Given the description of an element on the screen output the (x, y) to click on. 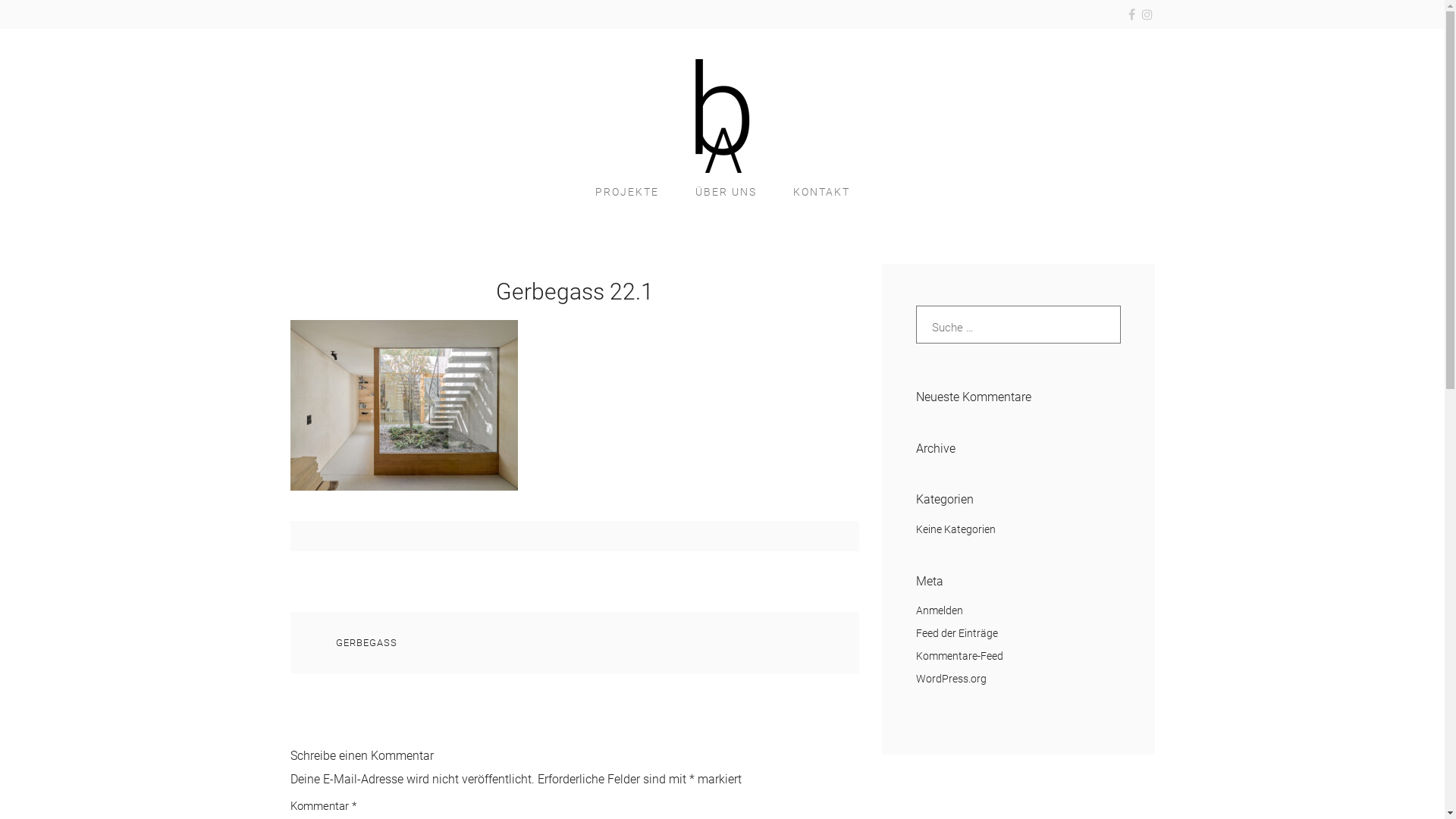
Kommentare-Feed Element type: text (959, 655)
WordPress.org Element type: text (951, 678)
Anmelden Element type: text (939, 610)
PROJEKTE Element type: text (626, 191)
GERBEGASS Element type: text (365, 642)
KONTAKT Element type: text (821, 191)
Suche Element type: text (53, 24)
